Given the description of an element on the screen output the (x, y) to click on. 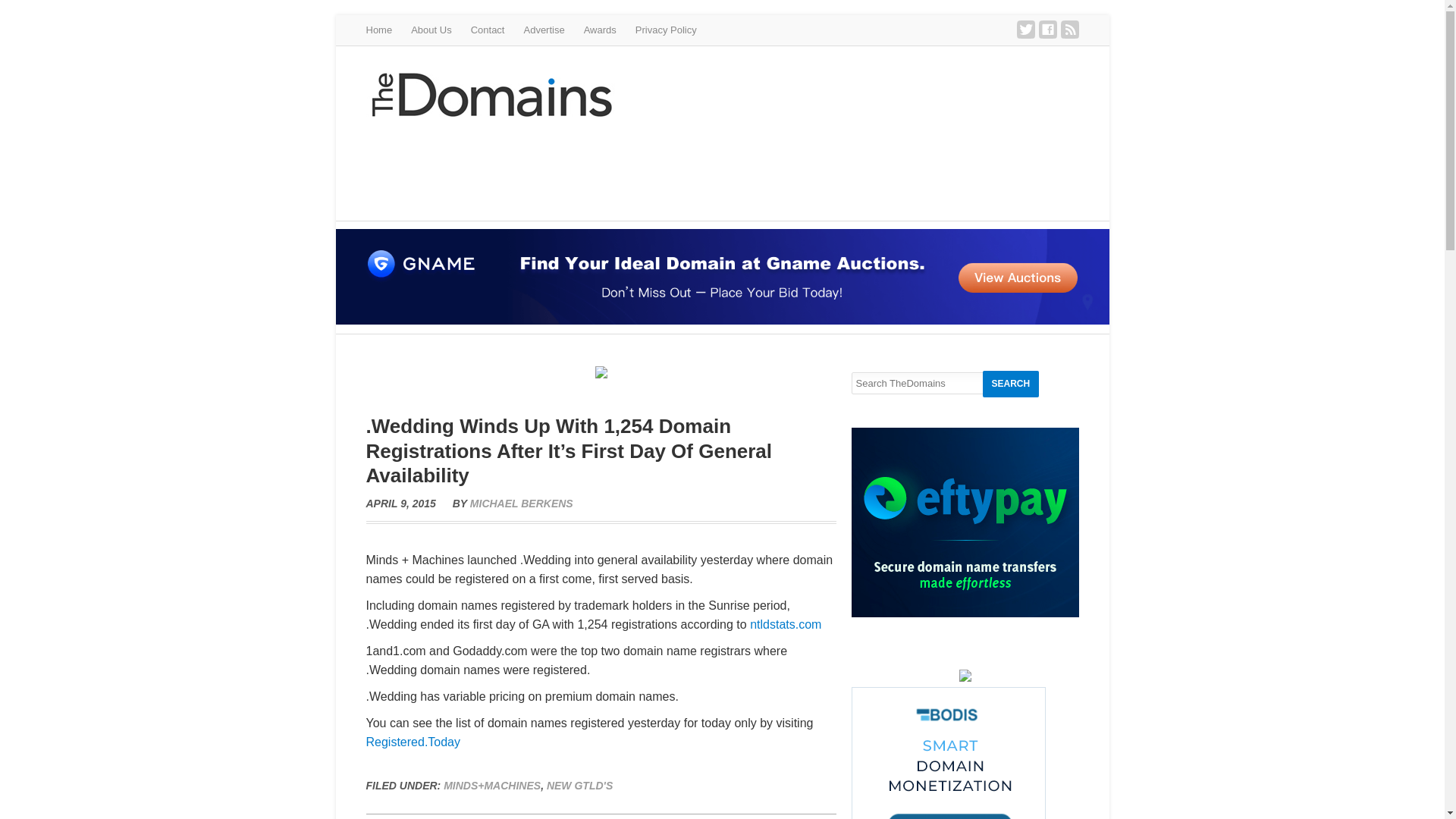
NEW GTLD'S (579, 785)
Registered.Today (412, 741)
RSS (1068, 29)
About Us (430, 30)
Search (1010, 384)
Facebook (1048, 29)
Awards (599, 30)
Advertise (543, 30)
ntldstats.com (785, 624)
Posts by Michael Berkens (521, 503)
